Given the description of an element on the screen output the (x, y) to click on. 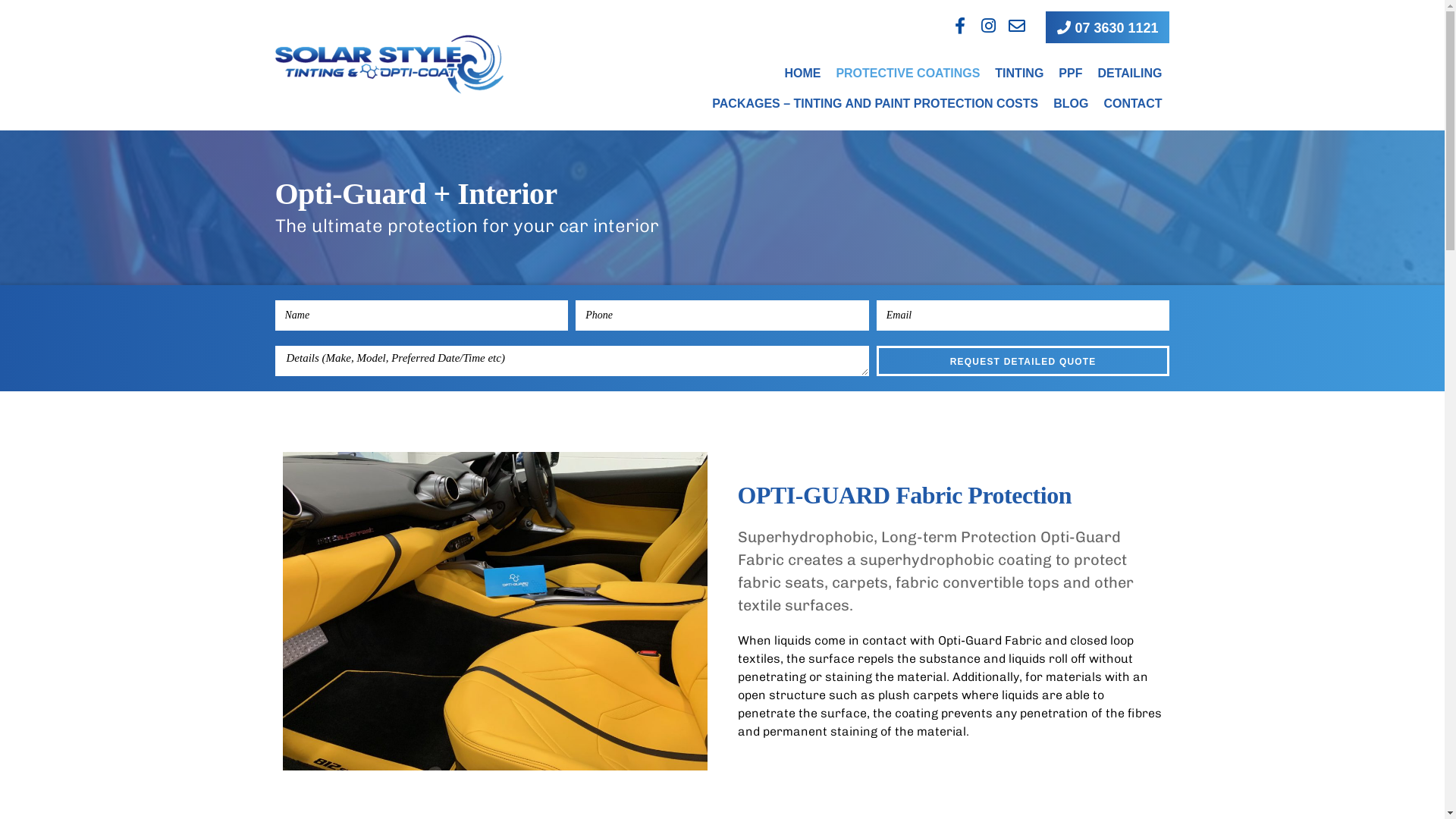
BLOG Element type: text (1070, 103)
TINTING Element type: text (1019, 73)
DETAILING Element type: text (1129, 73)
PROTECTIVE COATINGS Element type: text (907, 73)
HOME Element type: text (802, 73)
CONTACT Element type: text (1132, 103)
PPF Element type: text (1070, 73)
REQUEST DETAILED QUOTE Element type: text (1023, 360)
07 3630 1121 Element type: text (1107, 27)
